Given the description of an element on the screen output the (x, y) to click on. 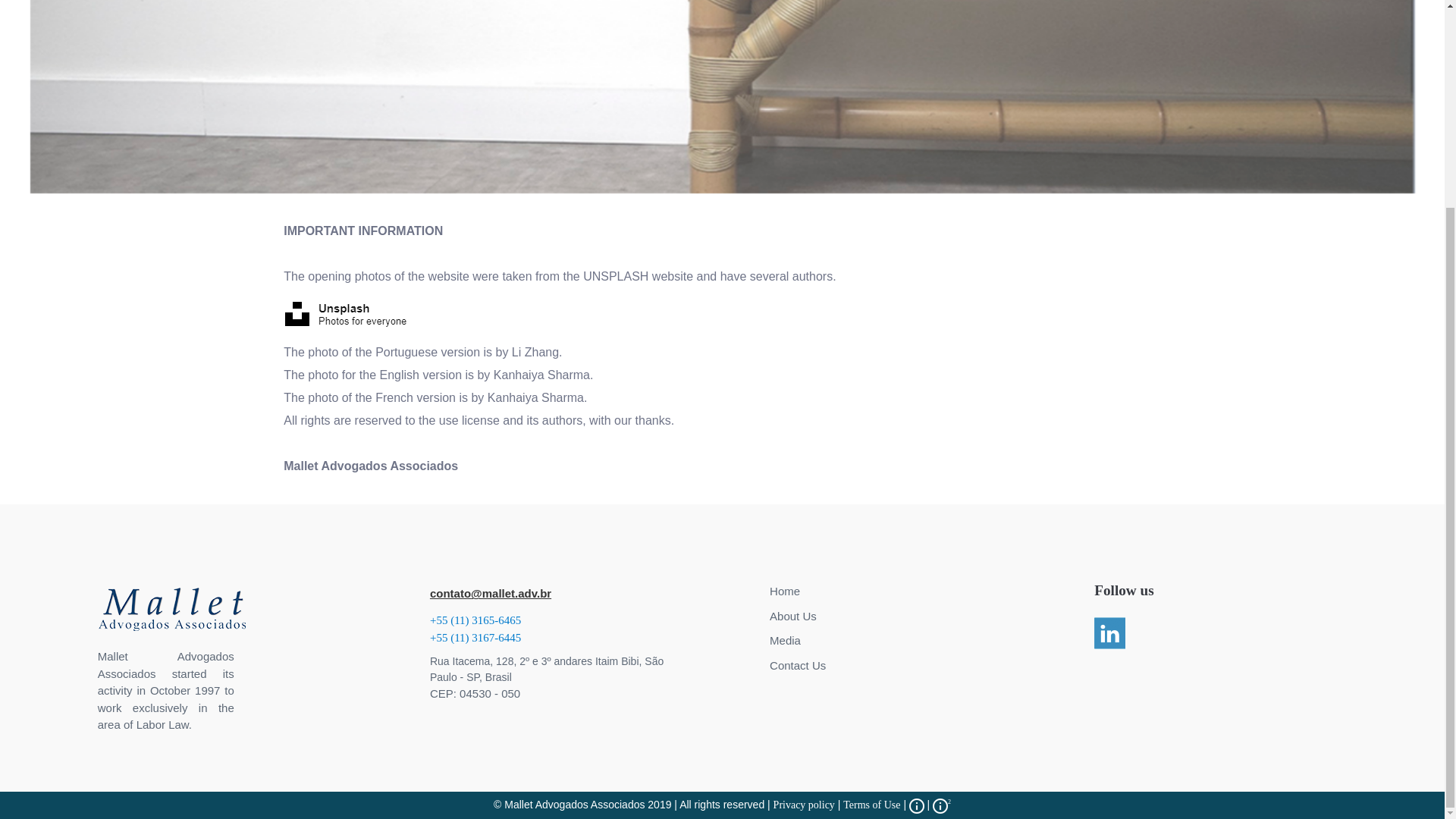
2 (941, 804)
IMPORTANT INFORMATION. (941, 804)
Home (784, 590)
Communicated to users. (917, 804)
Media (785, 640)
Terms of Use (871, 804)
Contact Us (797, 665)
About Us (793, 615)
Privacy policy (803, 804)
